Given the description of an element on the screen output the (x, y) to click on. 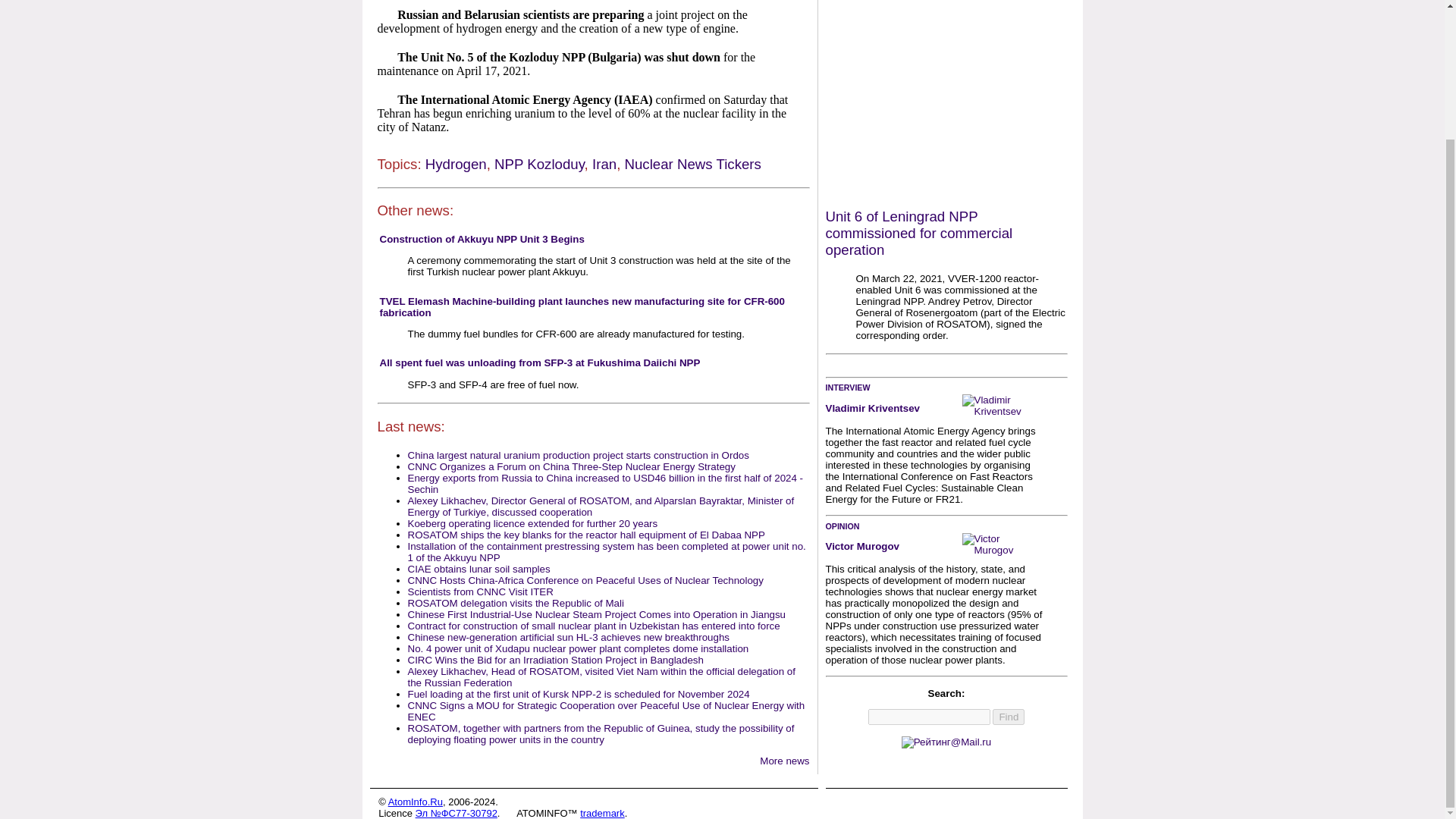
Find (1008, 716)
Koeberg operating licence extended for further 20 years (532, 523)
NPP Kozloduy (540, 163)
Construction of Akkuyu NPP Unit 3 Begins (480, 238)
Iran (603, 163)
CIAE obtains lunar soil samples (478, 568)
Hydrogen (455, 163)
